Given the description of an element on the screen output the (x, y) to click on. 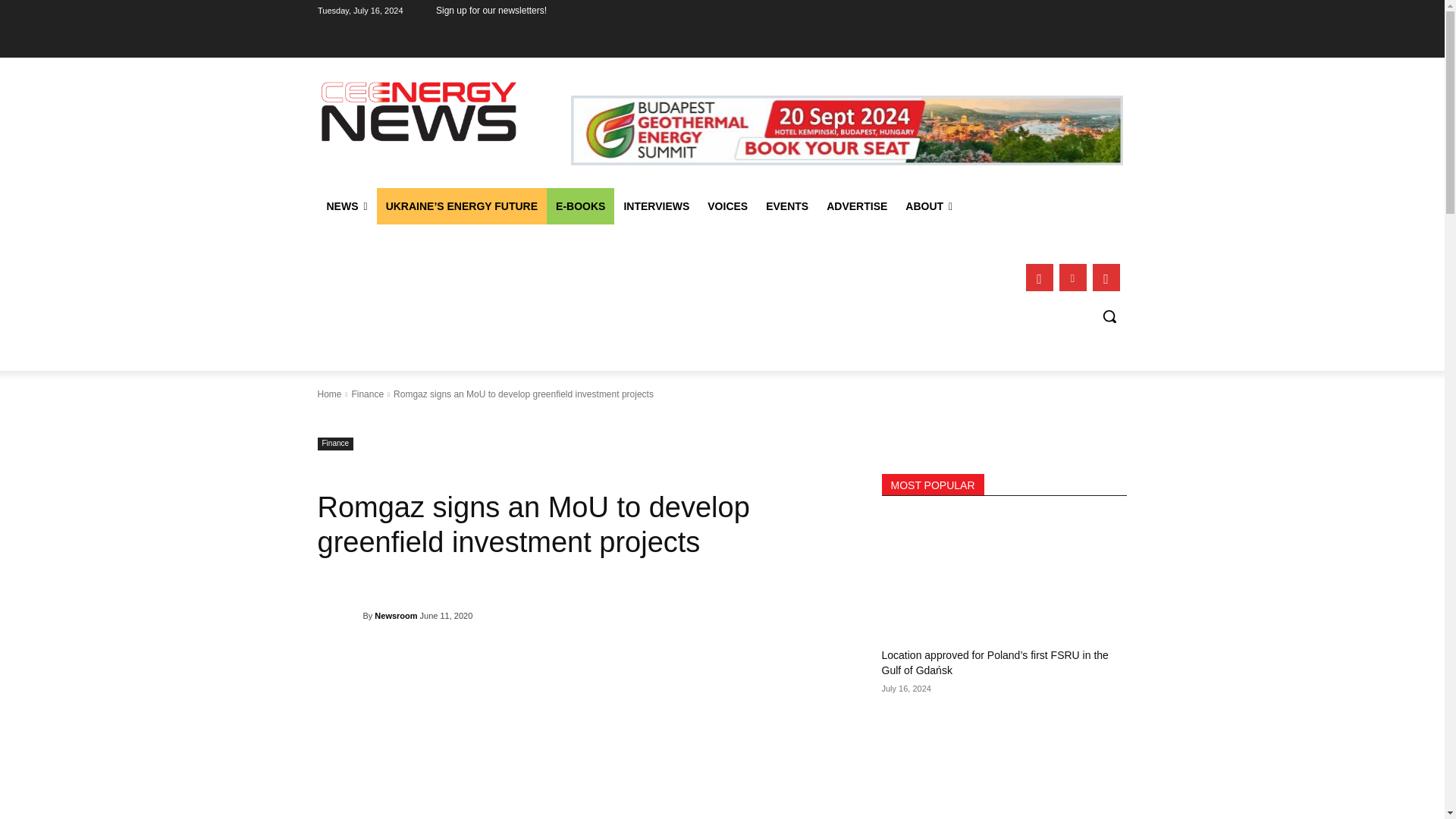
Linkedin (1072, 277)
Facebook (1038, 277)
NEWS (346, 206)
View all posts in Finance (367, 394)
CEENERGYNEWS logo (418, 111)
Sign up for our newsletters! (491, 10)
Newsroom (339, 615)
Twitter (1105, 277)
